Given the description of an element on the screen output the (x, y) to click on. 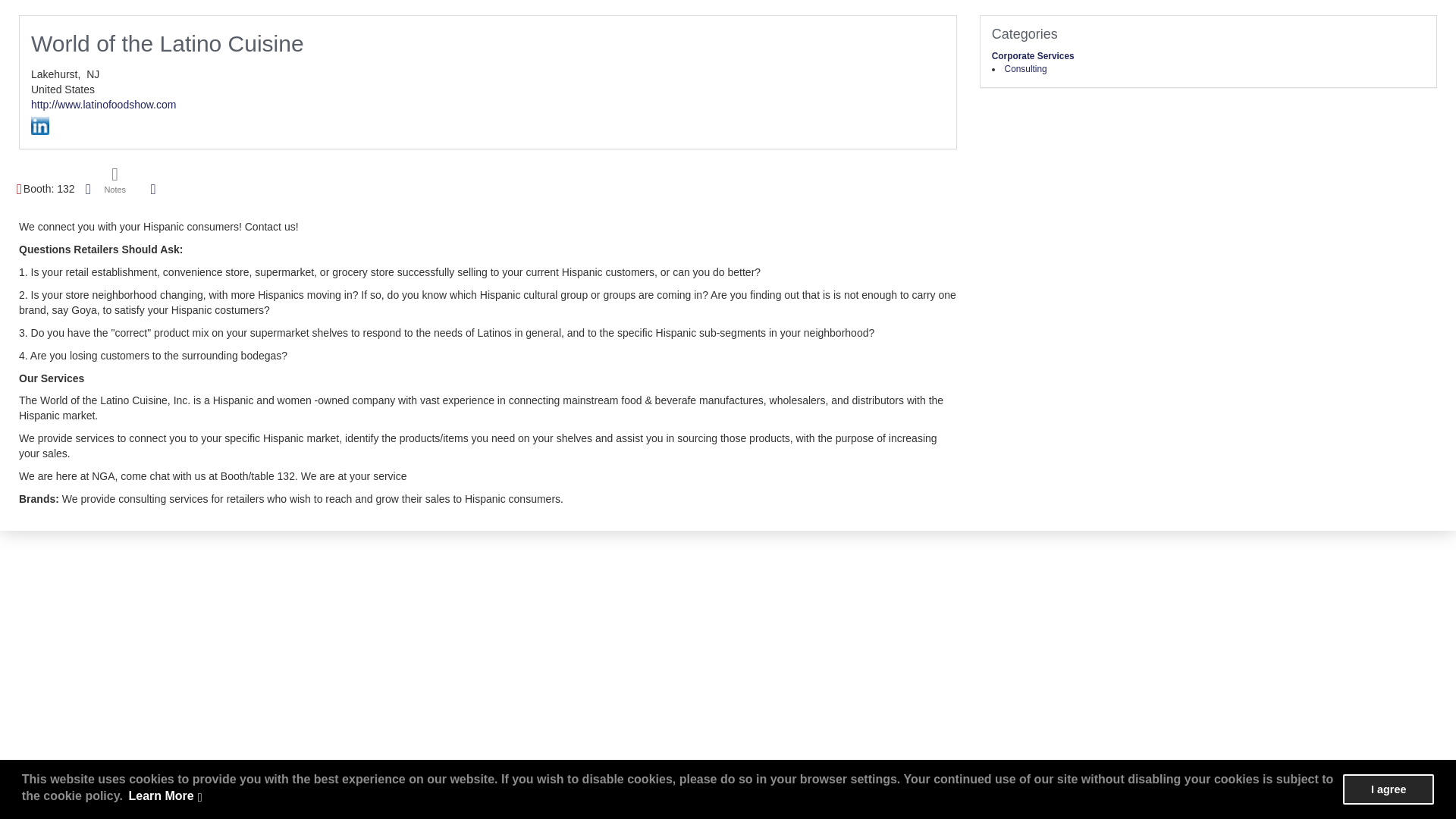
Print (88, 188)
Consulting (1025, 68)
Corporate Services (1032, 55)
Add To My Exhibitors (152, 189)
